Given the description of an element on the screen output the (x, y) to click on. 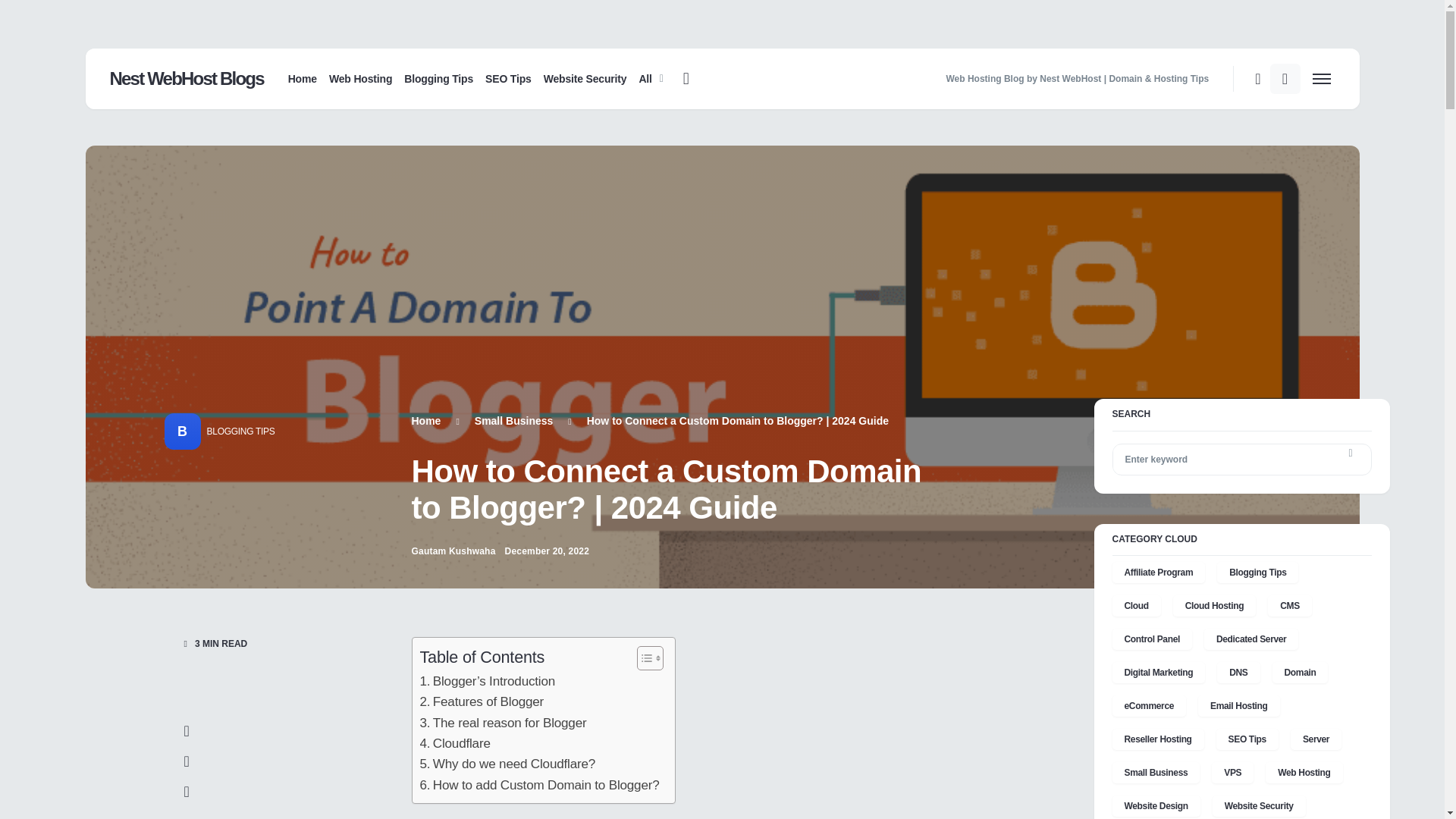
Why do we need Cloudflare? (507, 763)
Features of Blogger (482, 701)
How to add Custom Domain to Blogger? (539, 784)
Cloudflare (455, 743)
View all posts by Gautam Kushwaha (452, 550)
The real reason for Blogger (503, 722)
